Given the description of an element on the screen output the (x, y) to click on. 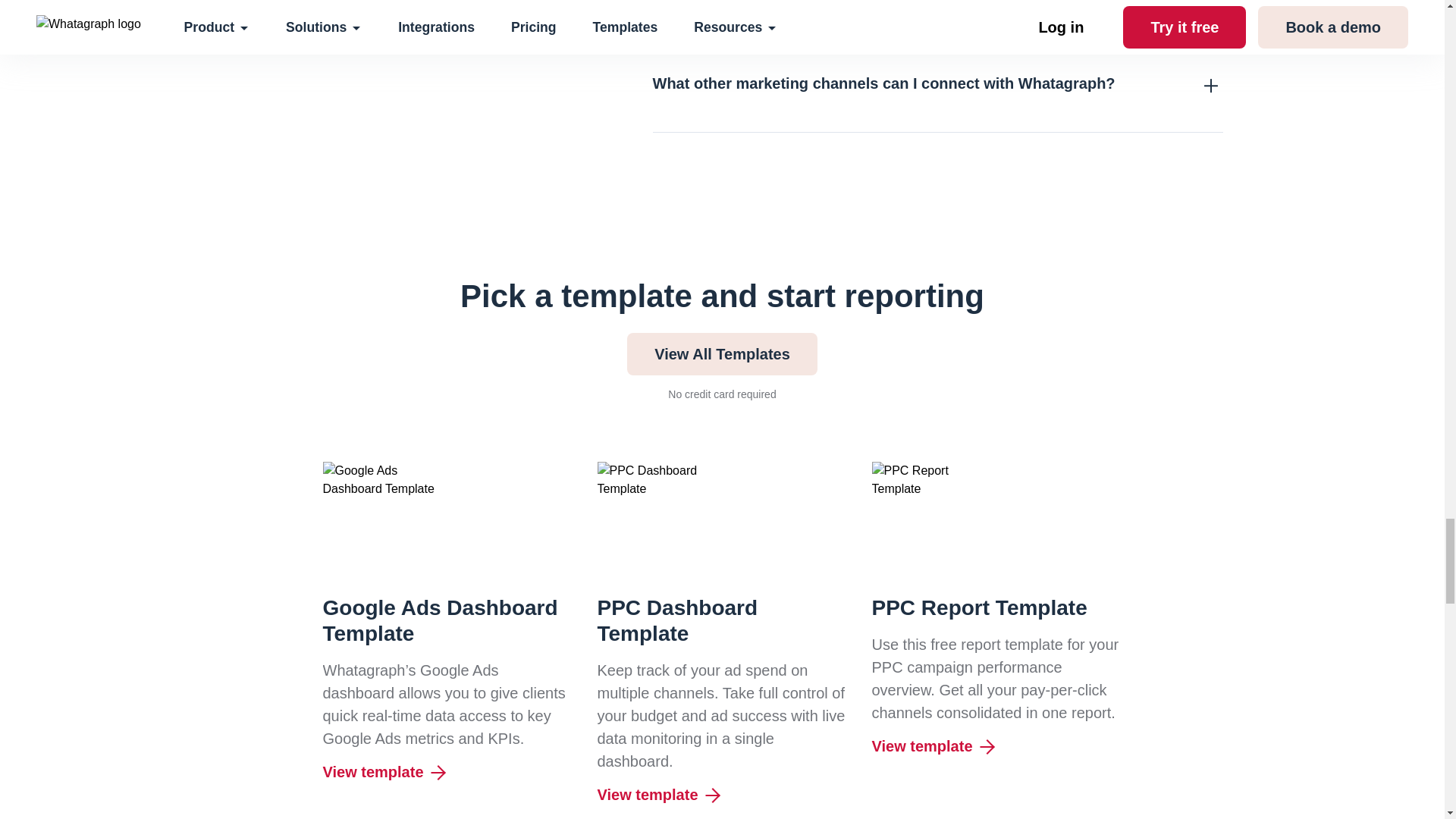
View All Templates (721, 353)
View template (997, 746)
View template (448, 772)
View template (721, 794)
